Given the description of an element on the screen output the (x, y) to click on. 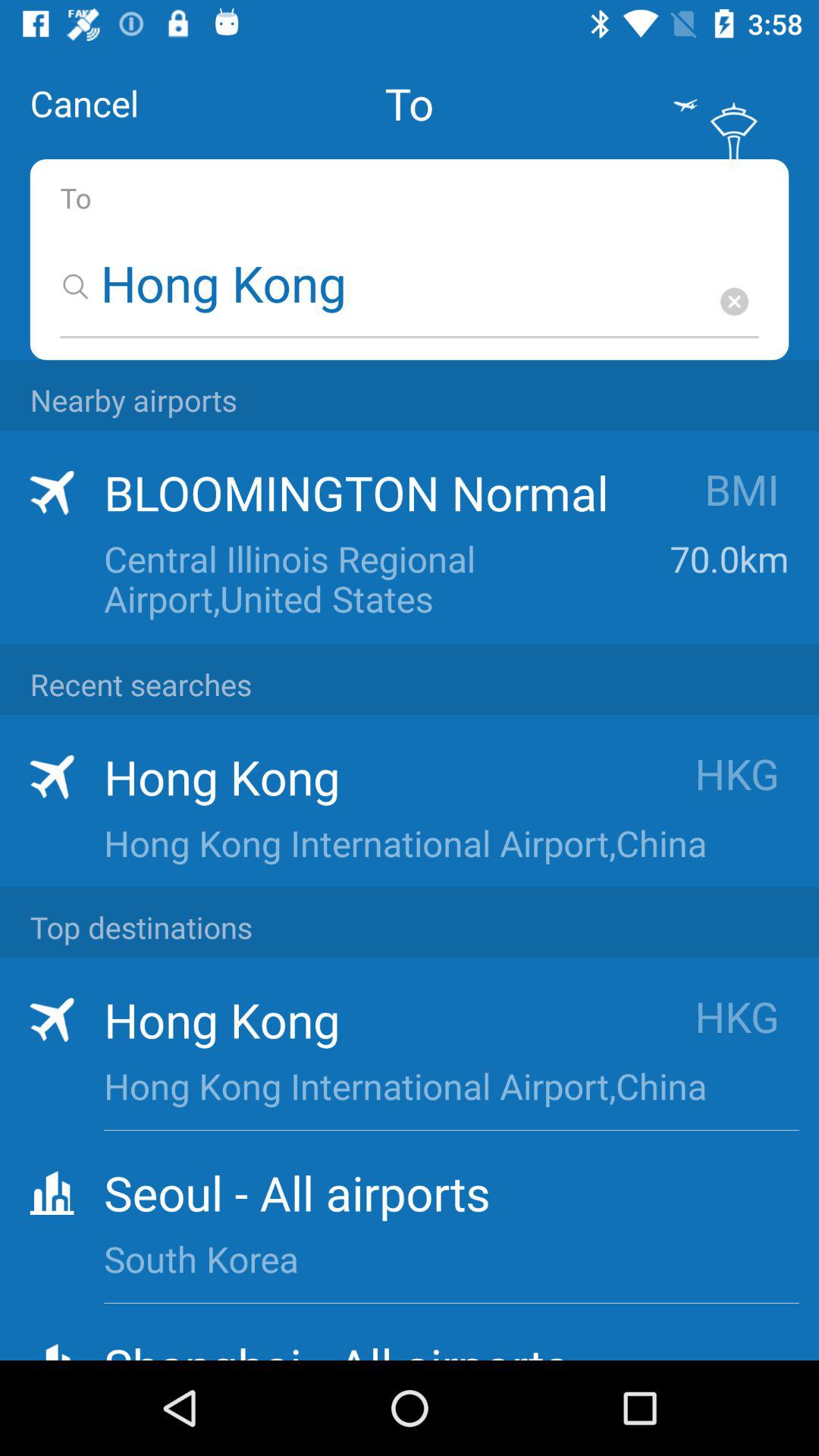
reset input content (734, 301)
